Given the description of an element on the screen output the (x, y) to click on. 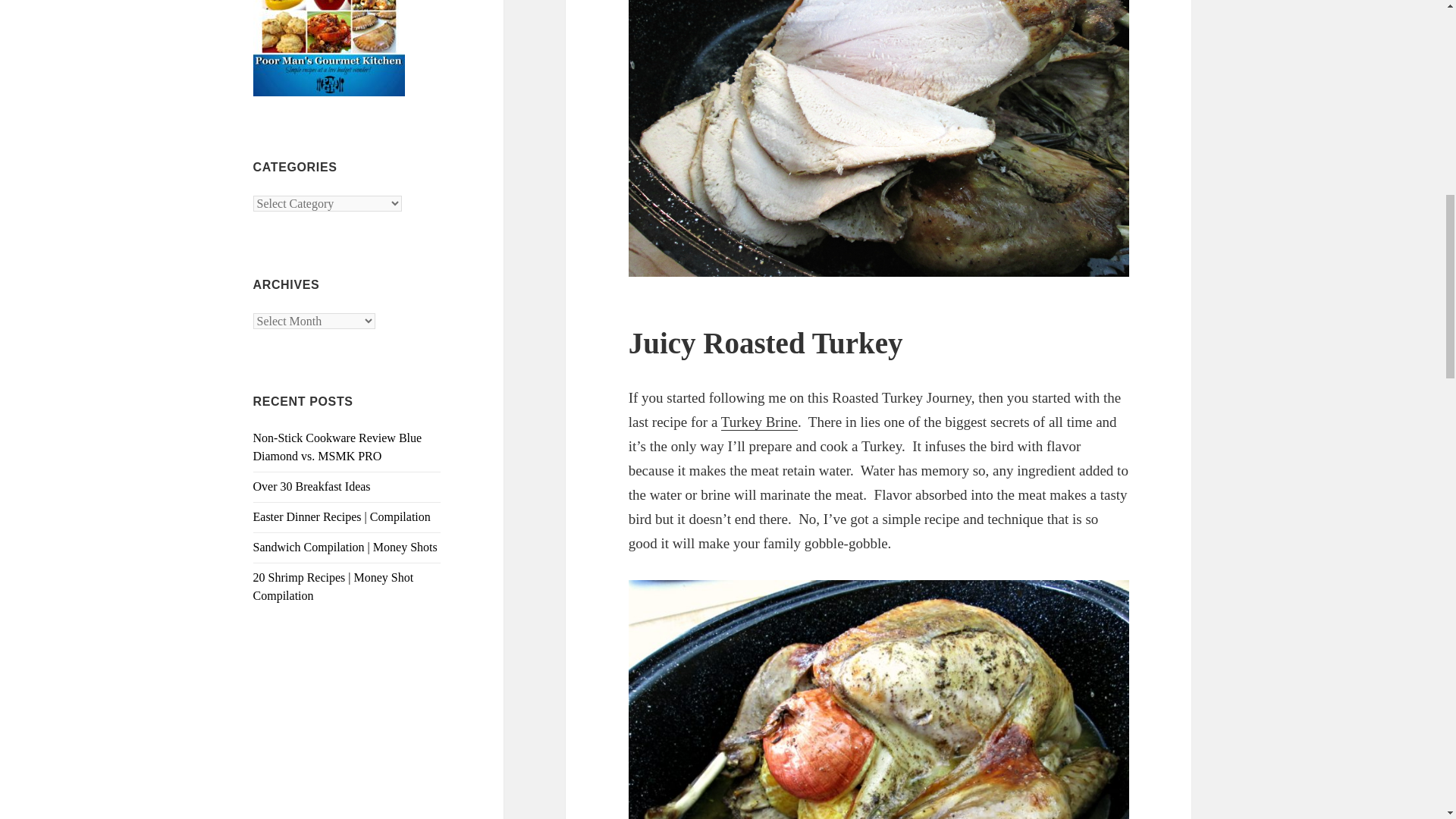
Turkey Brine (758, 422)
Non-Stick Cookware Review Blue Diamond vs. MSMK PRO (337, 446)
Over 30 Breakfast Ideas (312, 486)
